Given the description of an element on the screen output the (x, y) to click on. 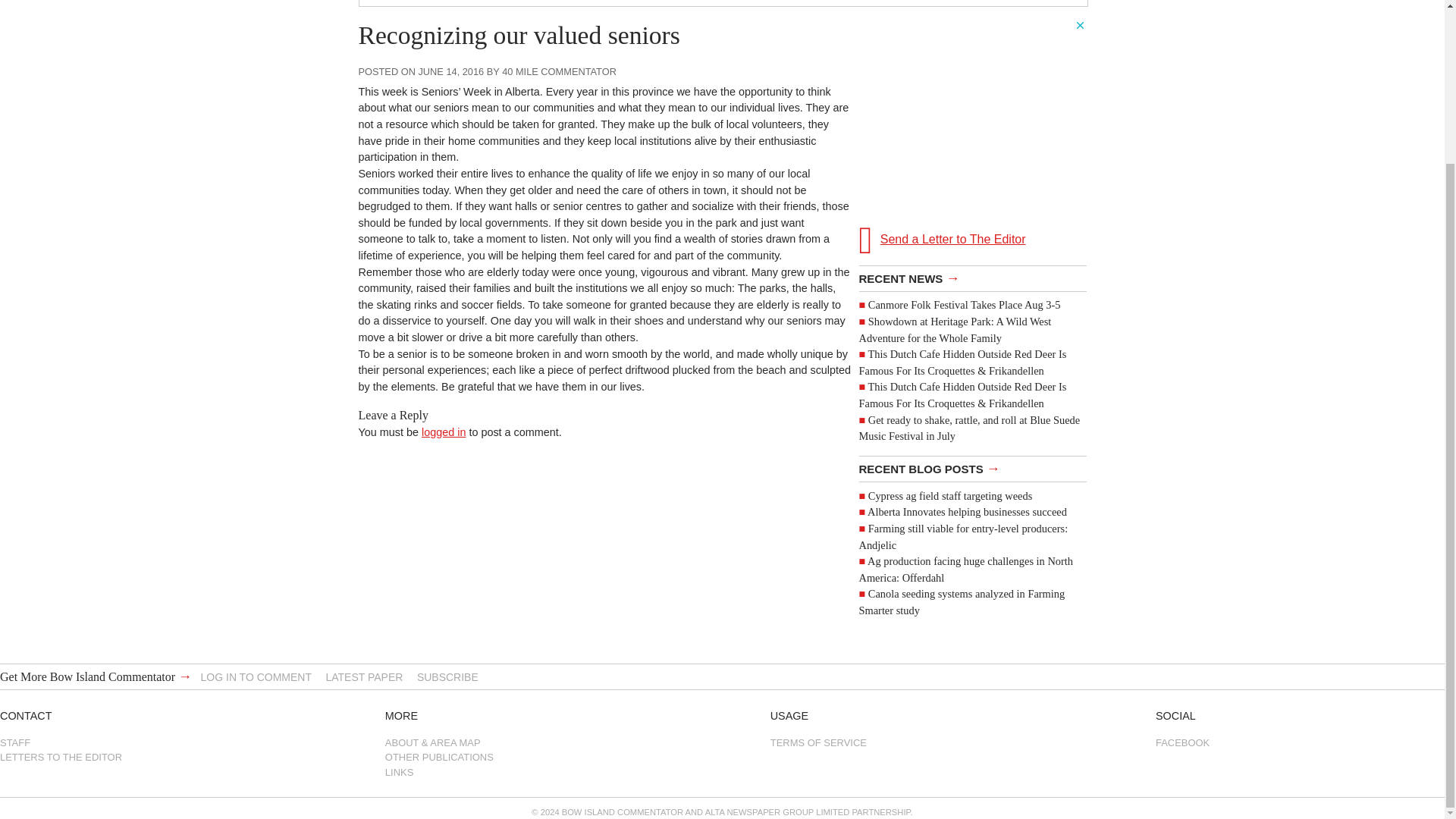
HOME (386, 2)
CYPRESS COURIER (633, 2)
SPECIAL SECTIONS (946, 2)
LATEST PAPER (363, 676)
EDITORIAL (841, 2)
CONTACT (1049, 2)
AGRICULTURE (749, 2)
Cypress ag field staff targeting weeds (949, 495)
Farming still viable for entry-level producers: Andjelic (963, 536)
logged in (443, 431)
Alberta Innovates helping businesses succeed (967, 511)
40-MILE COMMENTATOR (491, 2)
